Given the description of an element on the screen output the (x, y) to click on. 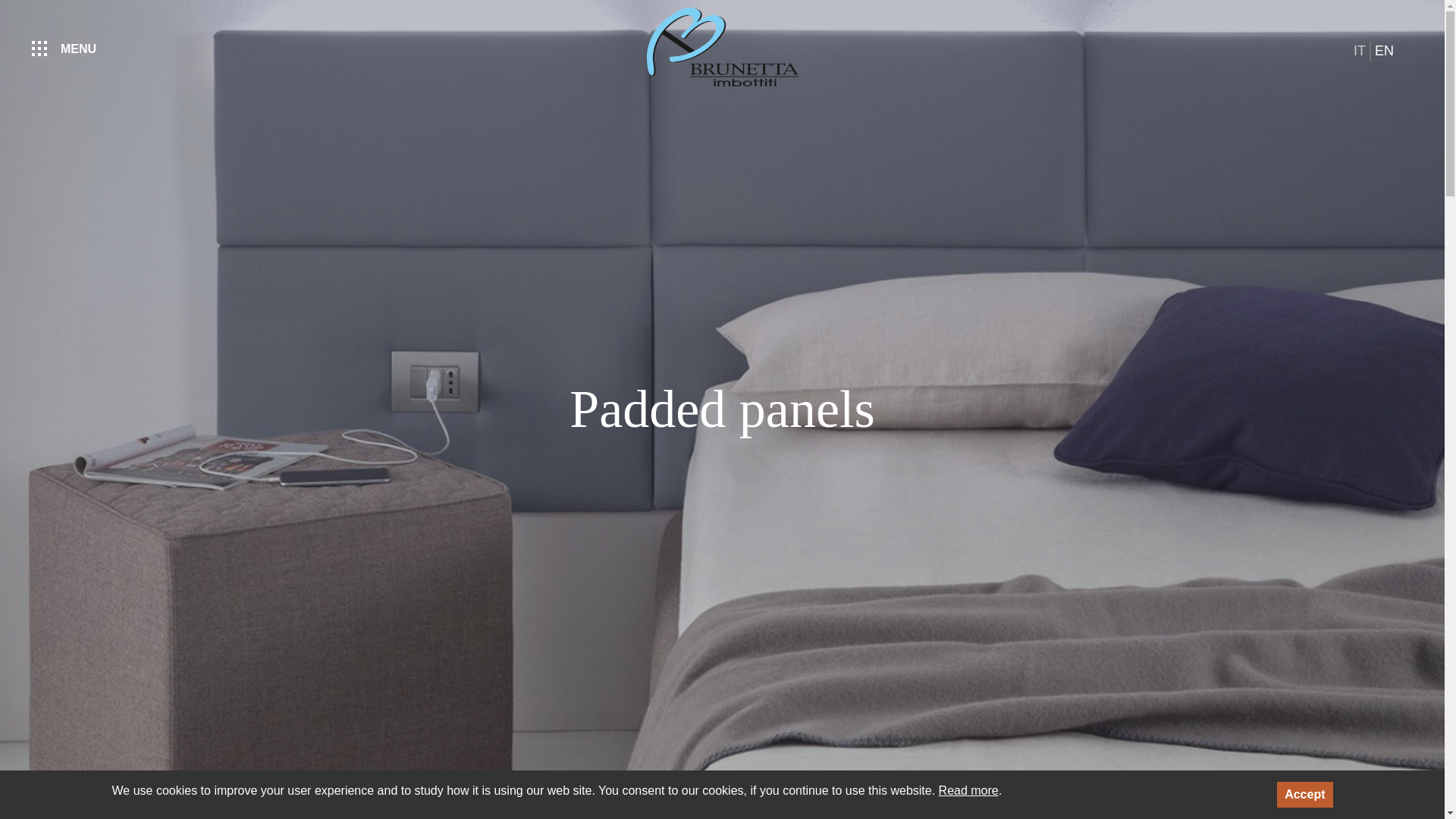
IT (1362, 50)
Read more (968, 789)
EN (1385, 50)
